Given the description of an element on the screen output the (x, y) to click on. 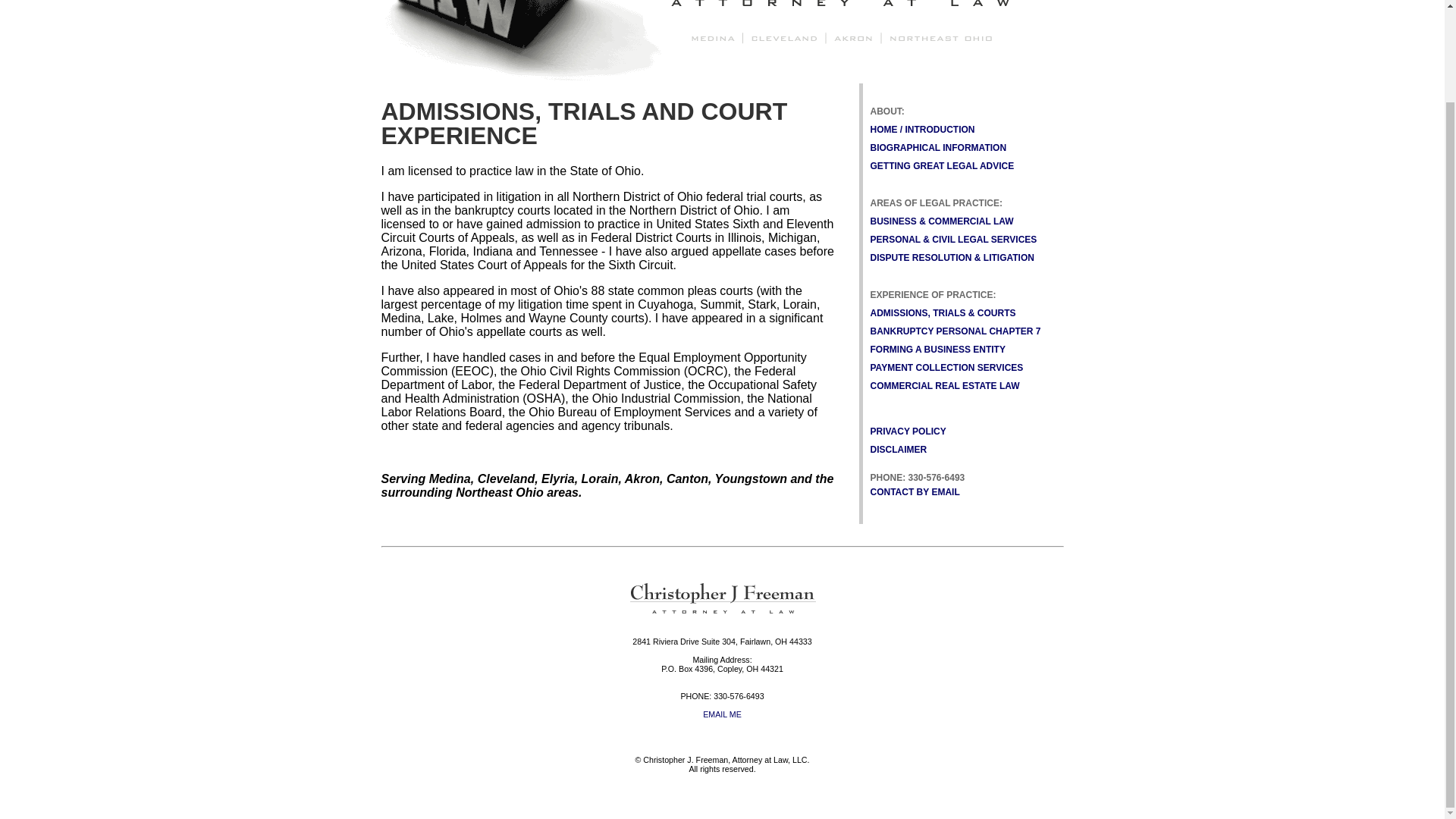
DISCLAIMER (898, 449)
Getting Great Legal Advice (942, 165)
Litigation Experience and Dispute Resolution (951, 257)
Privacy Policy (908, 430)
Personal Chapter 7 Bankruptcy Legal Services (955, 330)
Christopher J. Freeman Legal Services (721, 75)
COMMERCIAL REAL ESTATE LAW (945, 385)
BIOGRAPHICAL INFORMATION (938, 147)
Court Room Experience Throughout Ohio (943, 312)
FORMING A BUSINESS ENTITY (938, 348)
CONTACT BY EMAIL (914, 491)
Payment Collection Advice and Services (946, 367)
Christopher J. Freeman, Greater Cleveland Law Firm (721, 611)
EMAIL ME (722, 714)
